Given the description of an element on the screen output the (x, y) to click on. 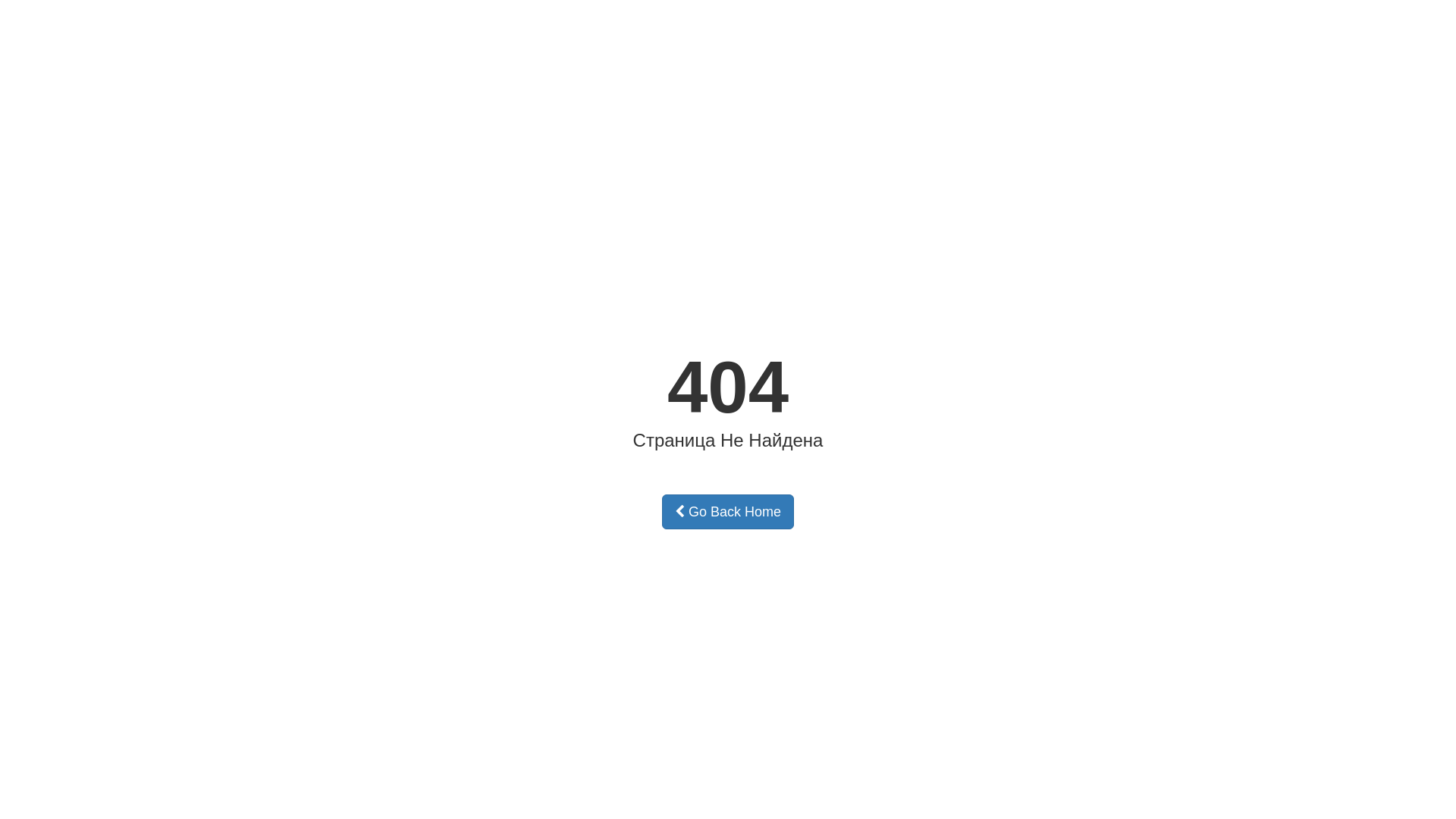
Go Back Home Element type: text (727, 511)
